Given the description of an element on the screen output the (x, y) to click on. 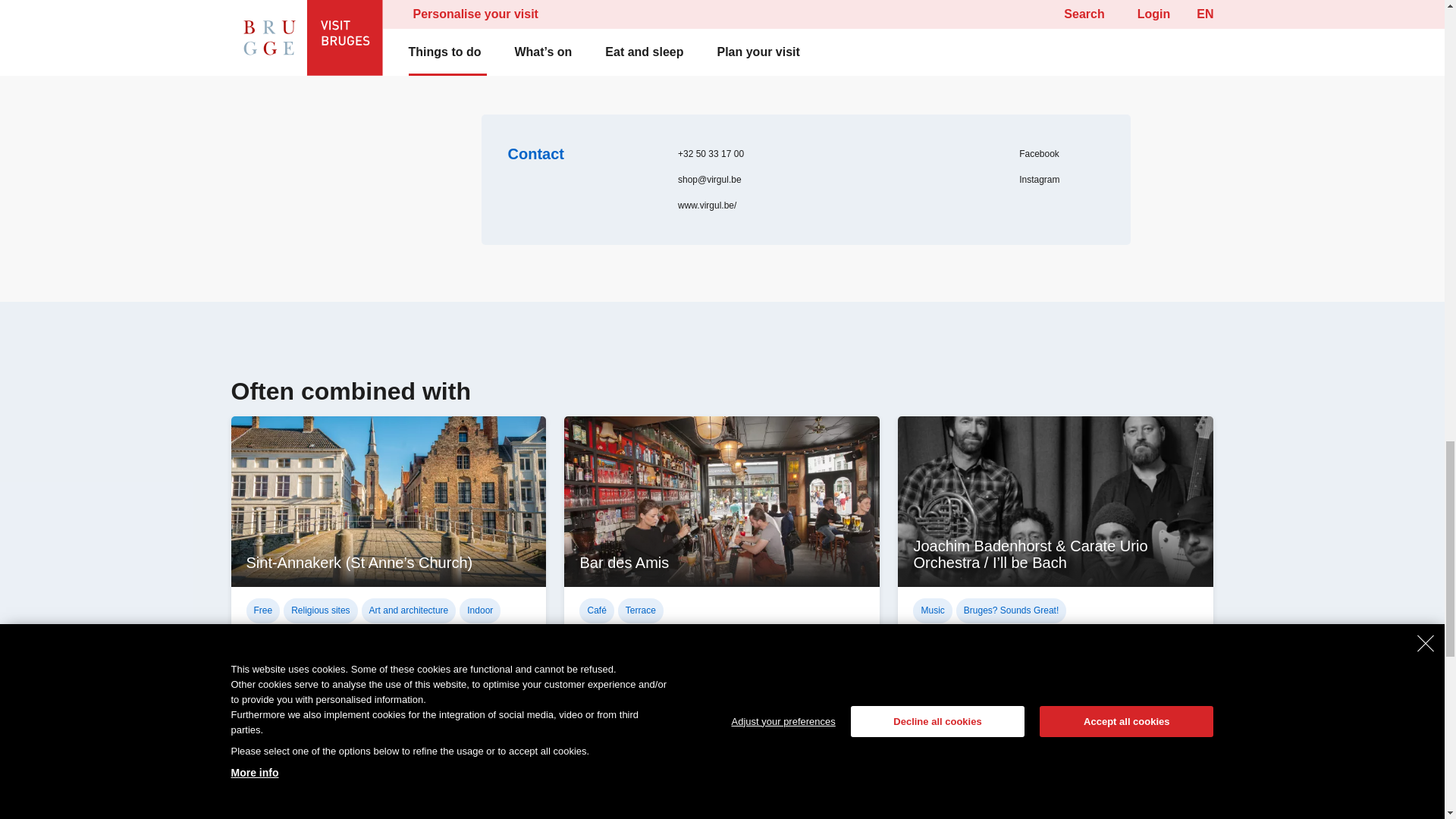
Bar des Amis (613, 784)
